Given the description of an element on the screen output the (x, y) to click on. 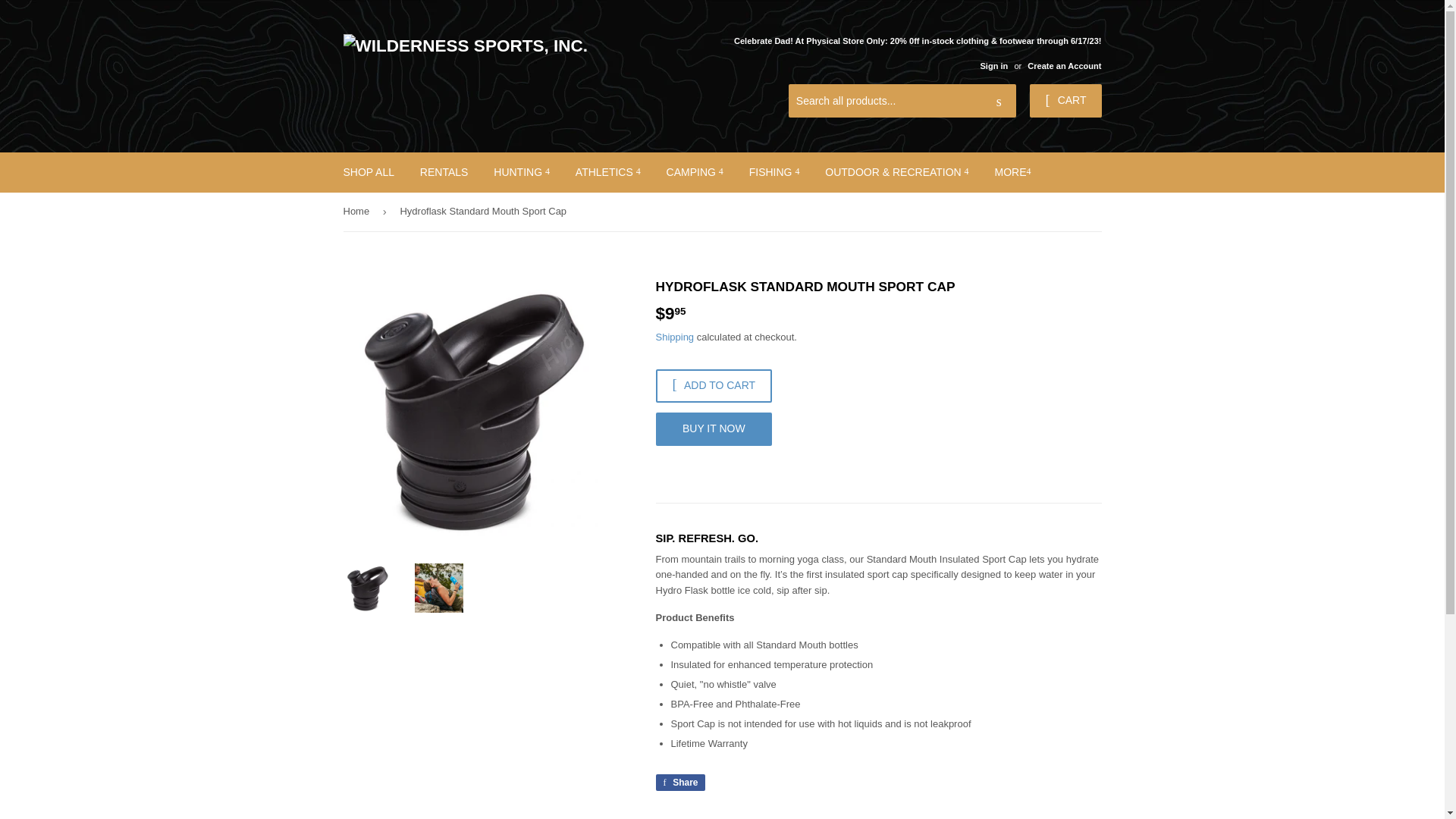
Share on Facebook (679, 782)
Sign in (993, 65)
Search (998, 101)
CART (1064, 100)
Create an Account (1063, 65)
